Given the description of an element on the screen output the (x, y) to click on. 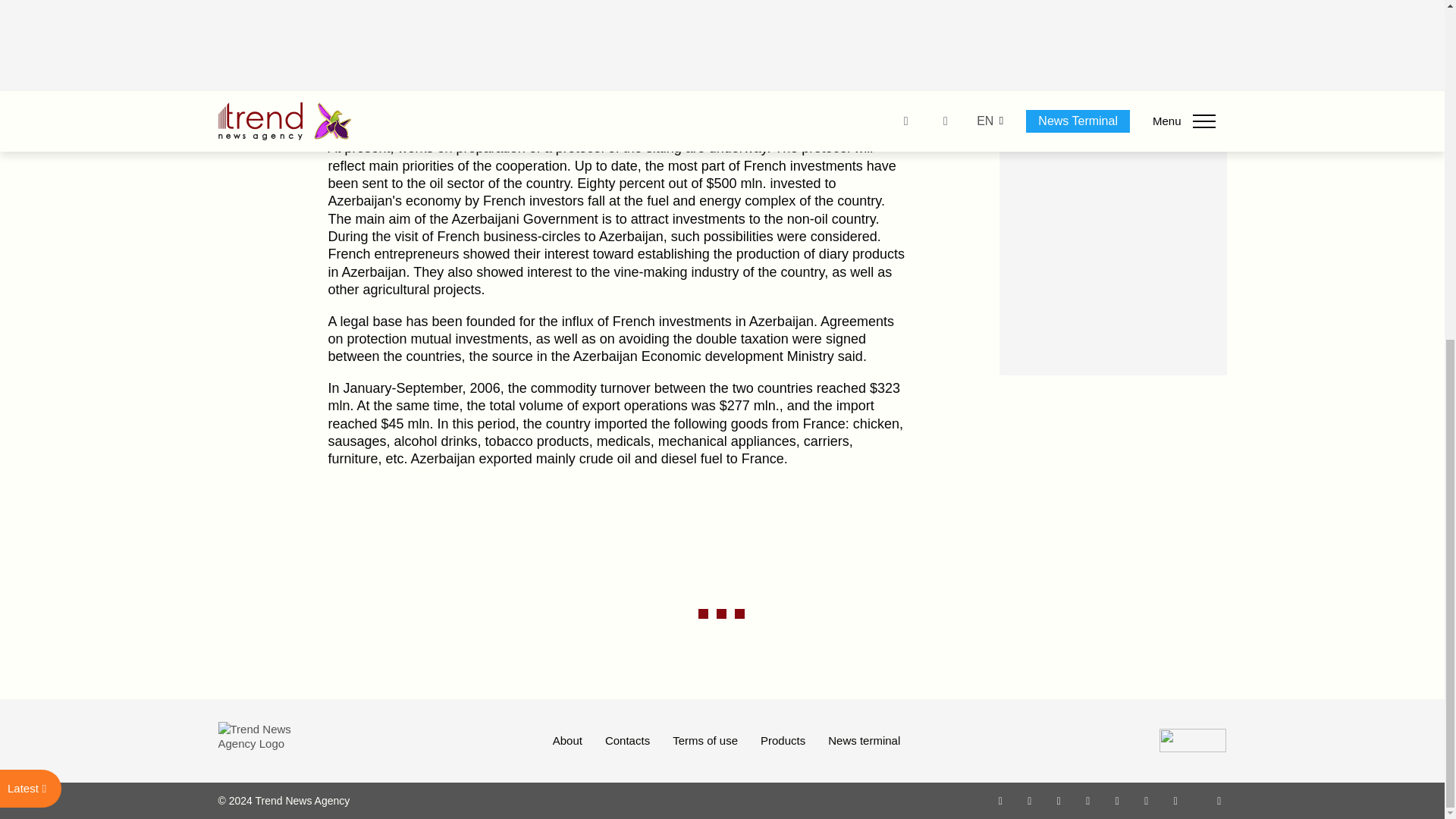
Android App (1176, 800)
RSS Feed (1219, 800)
Facebook (1029, 800)
Telegram (1117, 800)
Whatsapp (1000, 800)
Twitter (1059, 800)
LinkedIn (1146, 800)
Youtube (1088, 800)
